Given the description of an element on the screen output the (x, y) to click on. 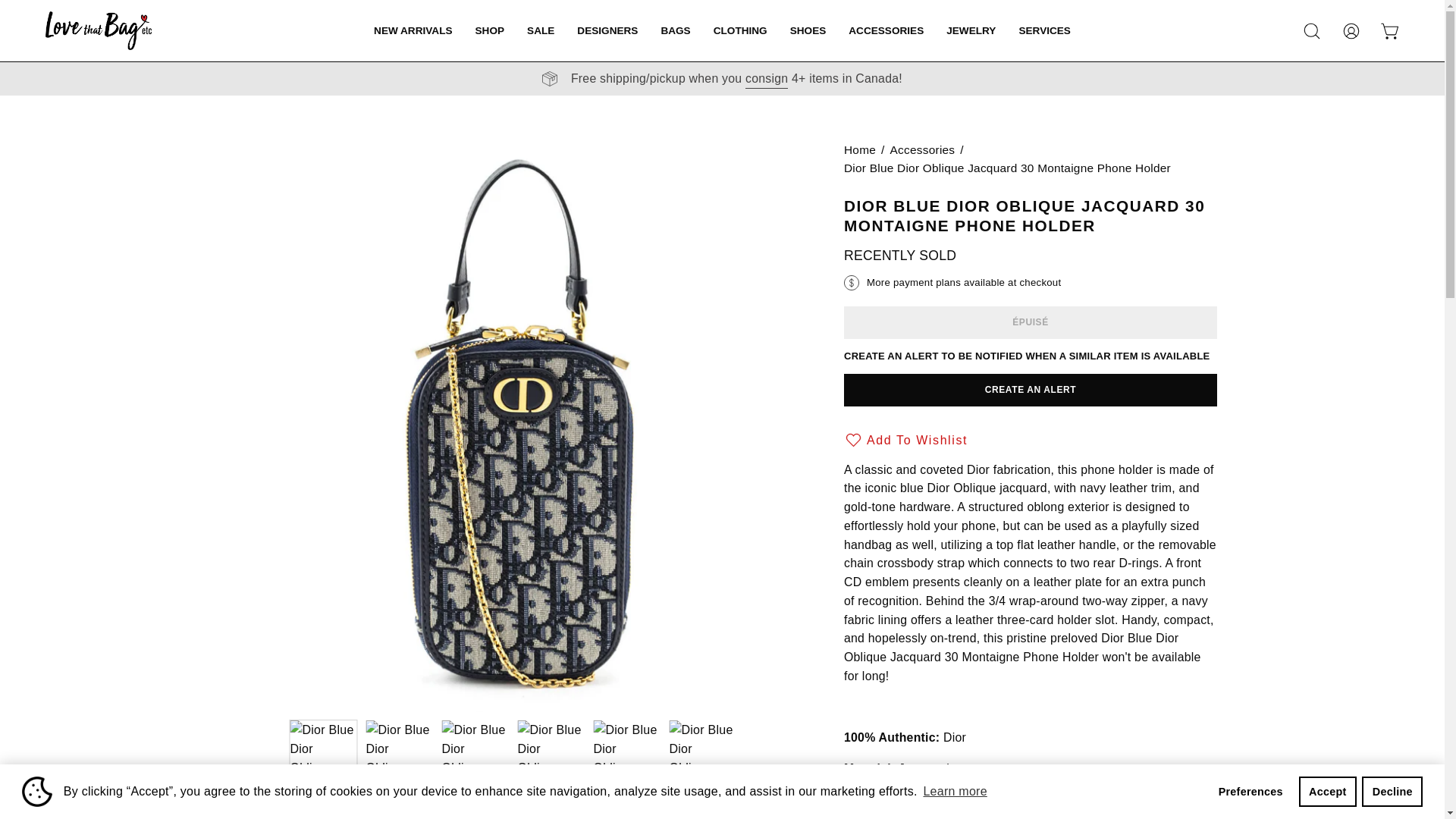
Preferences (1250, 791)
Retour a la page d'acceuil (860, 149)
Ouvrir la barre de recherche (1311, 30)
Learn more (955, 791)
Accept (1327, 791)
Learn about luxury consignment in Canada (766, 78)
Decline (1391, 791)
